Given the description of an element on the screen output the (x, y) to click on. 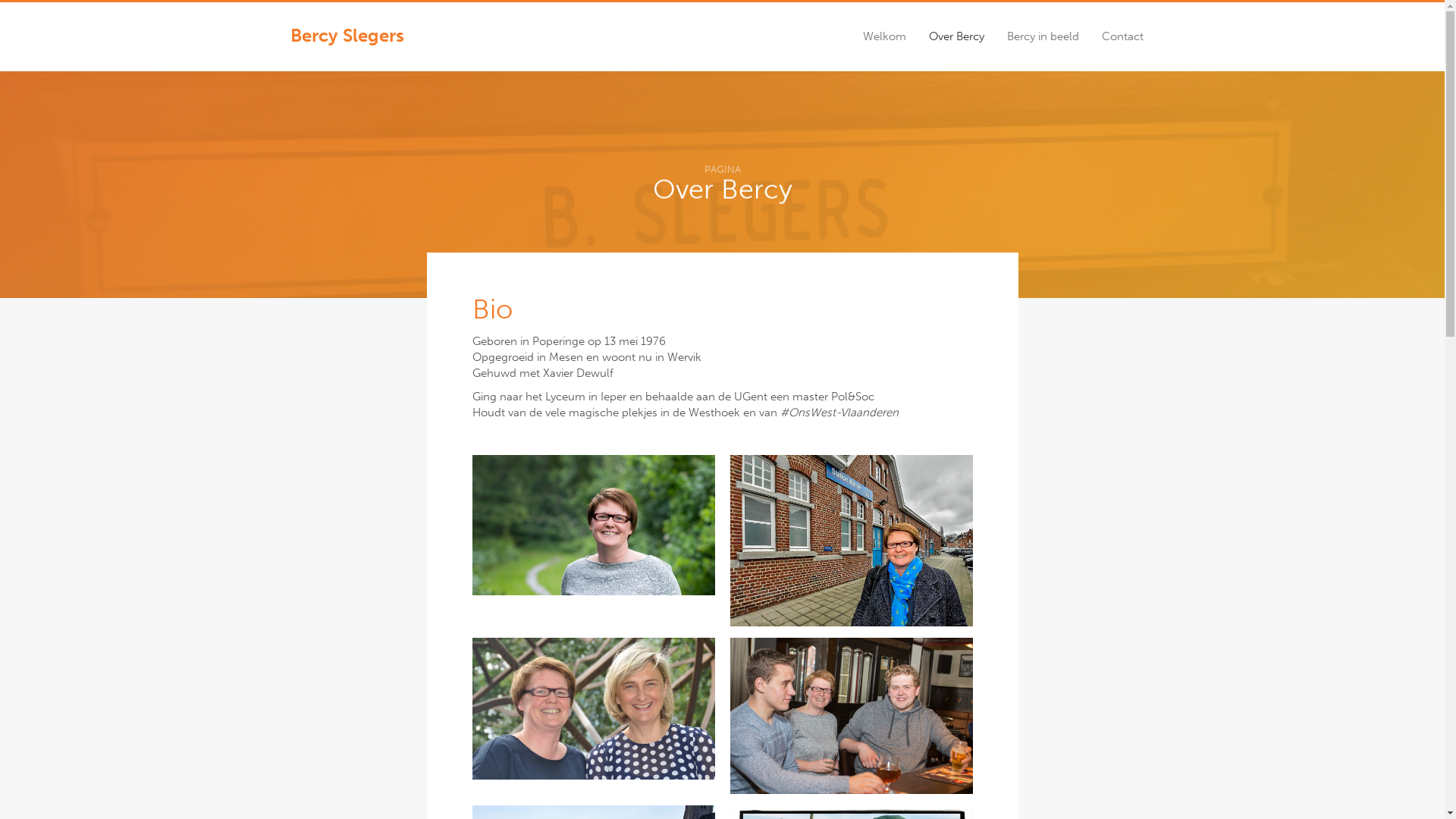
Bercy in beeld Element type: text (1041, 36)
Bercy Slegers Element type: text (347, 36)
Over Bercy Element type: text (956, 36)
Welkom Element type: text (883, 36)
Contact Element type: text (1122, 36)
